Given the description of an element on the screen output the (x, y) to click on. 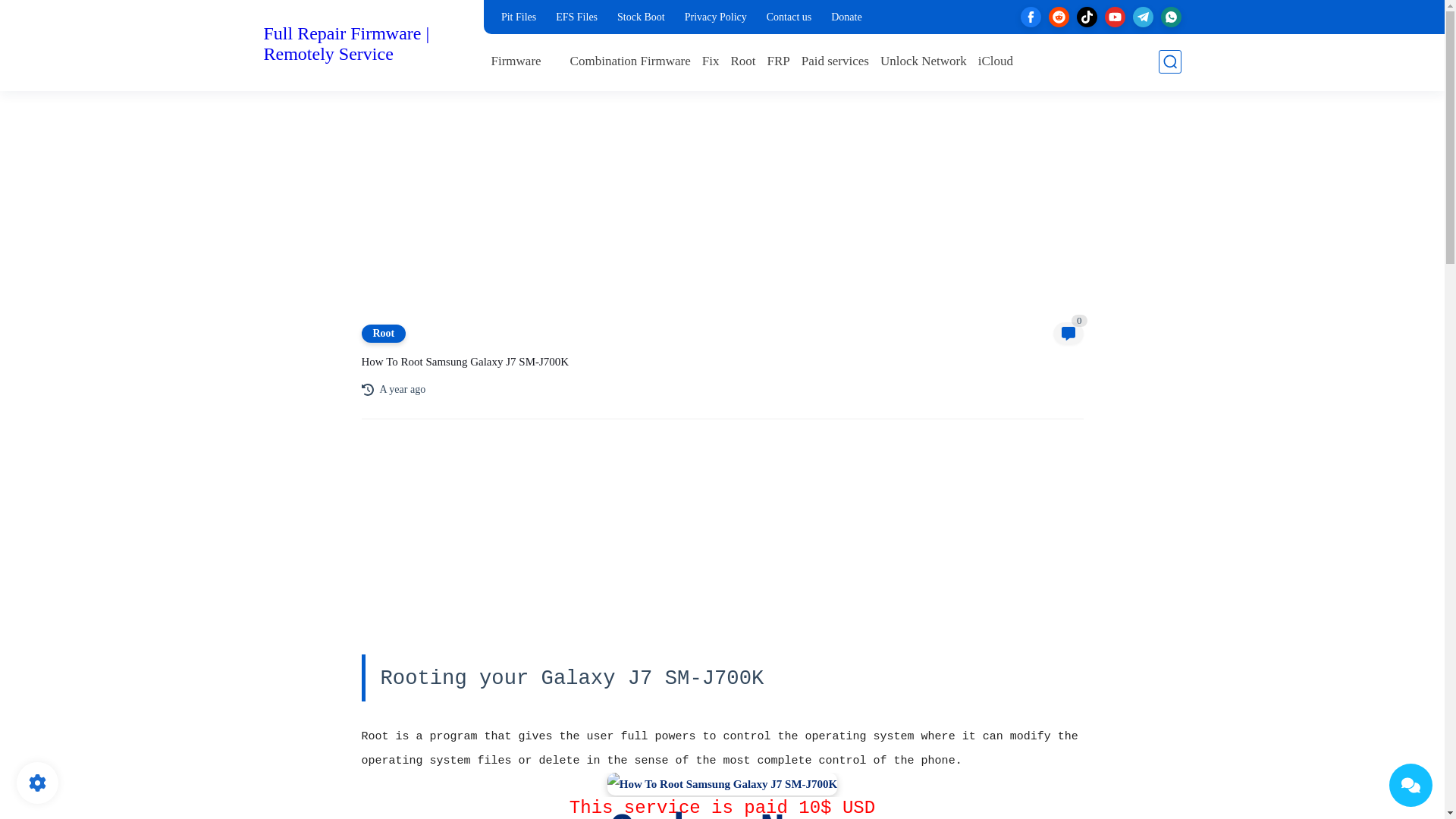
EFS Files (577, 17)
Combination Firmware (630, 61)
Root (742, 61)
FRP (778, 61)
Pit Files (518, 17)
Paid services (835, 61)
Root (742, 61)
whatsapp (1170, 16)
iCloud (995, 61)
tiktok (1087, 16)
